Given the description of an element on the screen output the (x, y) to click on. 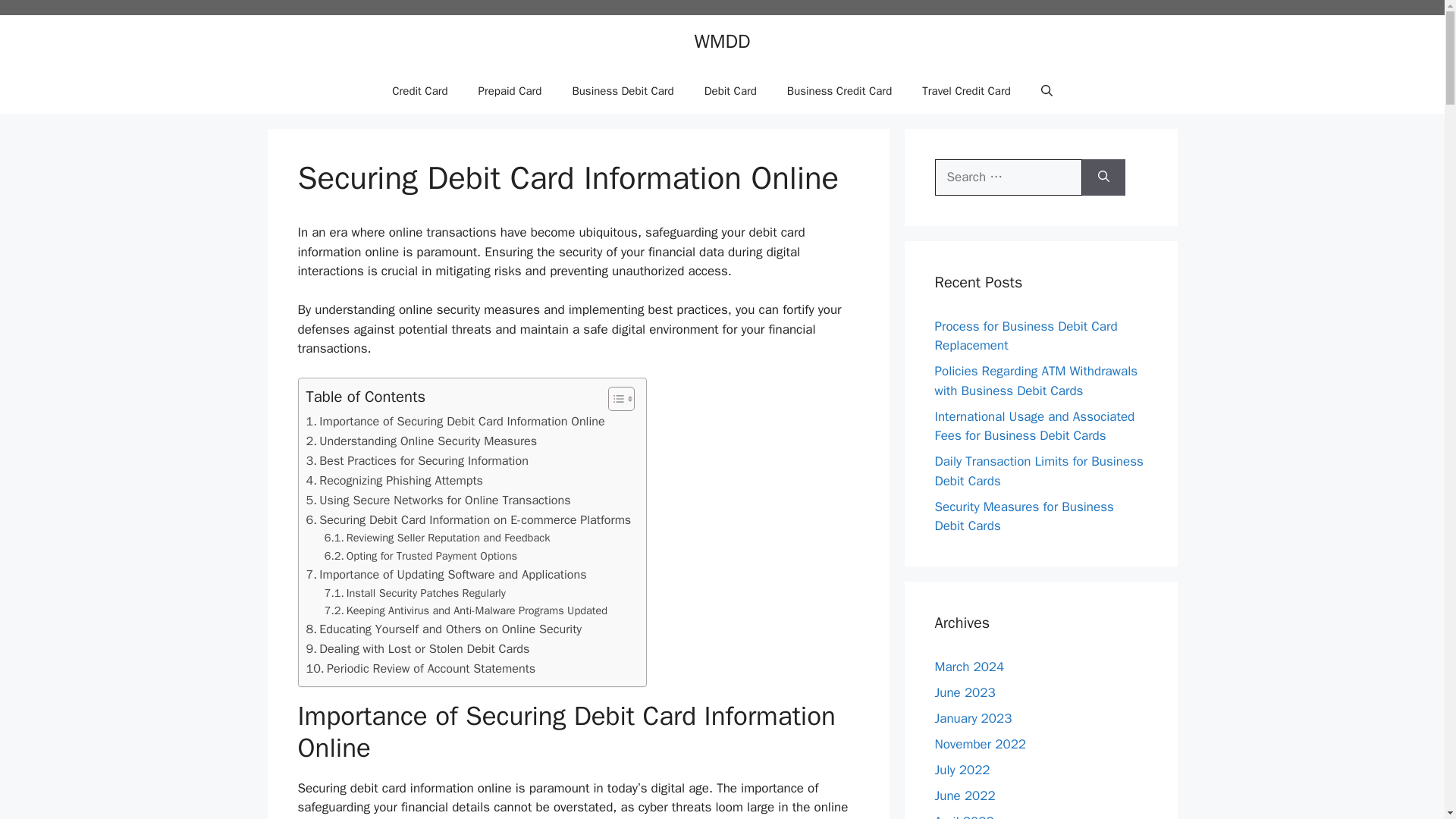
Opting for Trusted Payment Options (420, 556)
Importance of Updating Software and Applications (445, 574)
Keeping Antivirus and Anti-Malware Programs Updated (465, 610)
Importance of Securing Debit Card Information Online (455, 421)
Reviewing Seller Reputation and Feedback (437, 538)
Securing Debit Card Information on E-commerce Platforms (468, 519)
Periodic Review of Account Statements (420, 668)
Search for: (1007, 176)
July 2022 (962, 769)
